Given the description of an element on the screen output the (x, y) to click on. 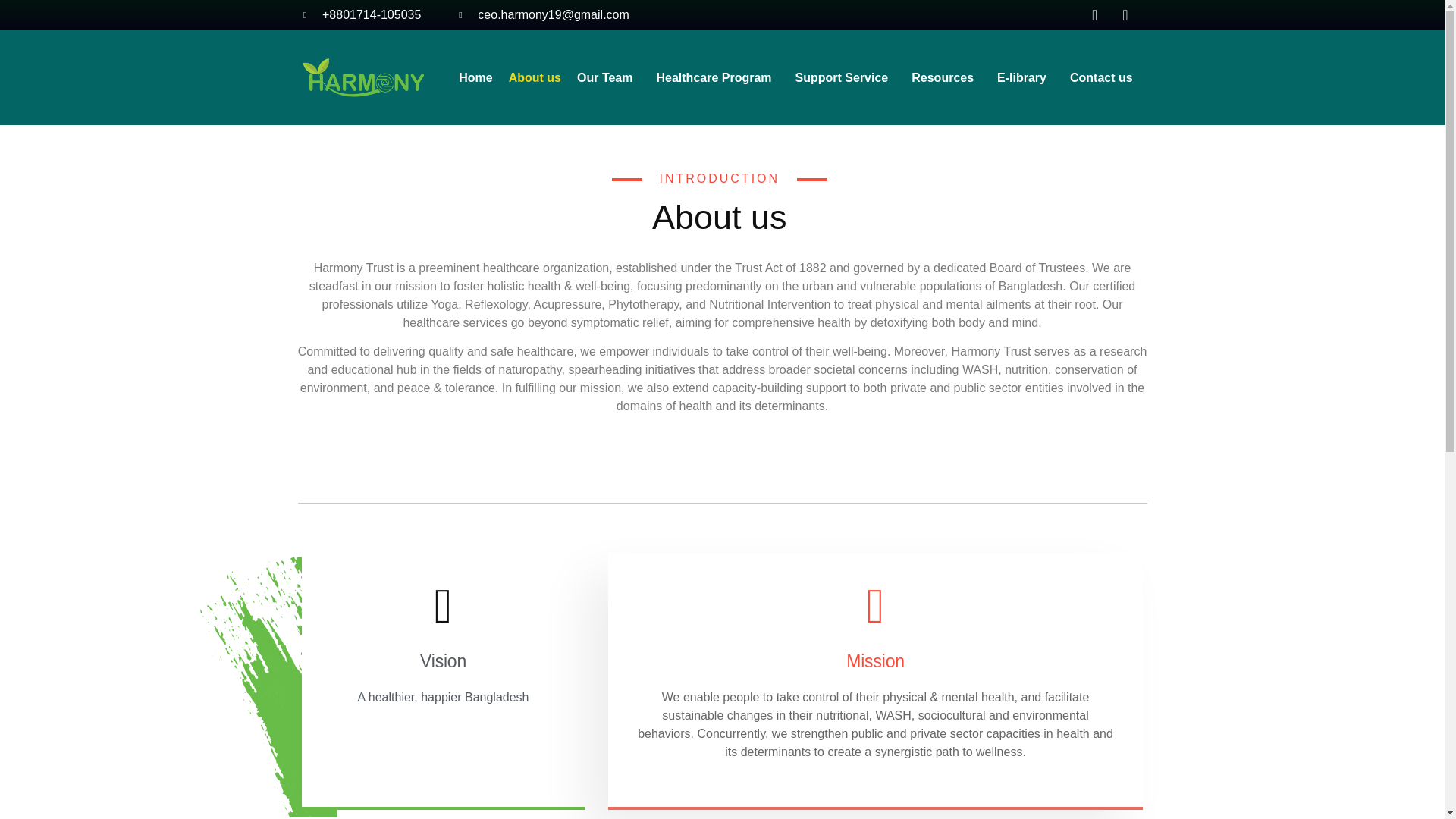
Resources (946, 77)
E-library (1025, 77)
Home (475, 77)
Contact us (1101, 77)
Our Team (608, 77)
About us (534, 77)
Healthcare Program (716, 77)
Support Service (845, 77)
